Given the description of an element on the screen output the (x, y) to click on. 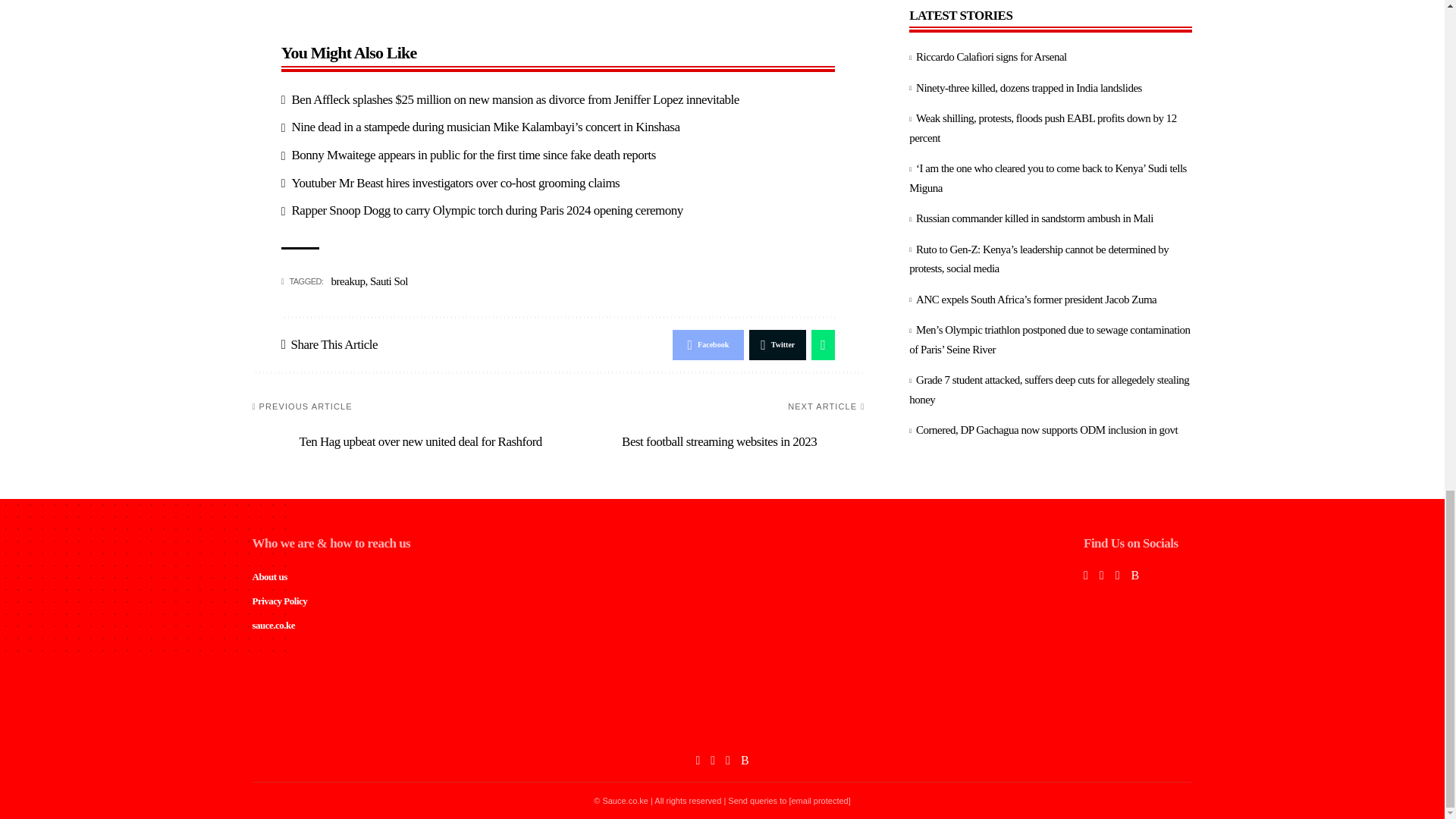
sauce.co.ke (721, 723)
